Given the description of an element on the screen output the (x, y) to click on. 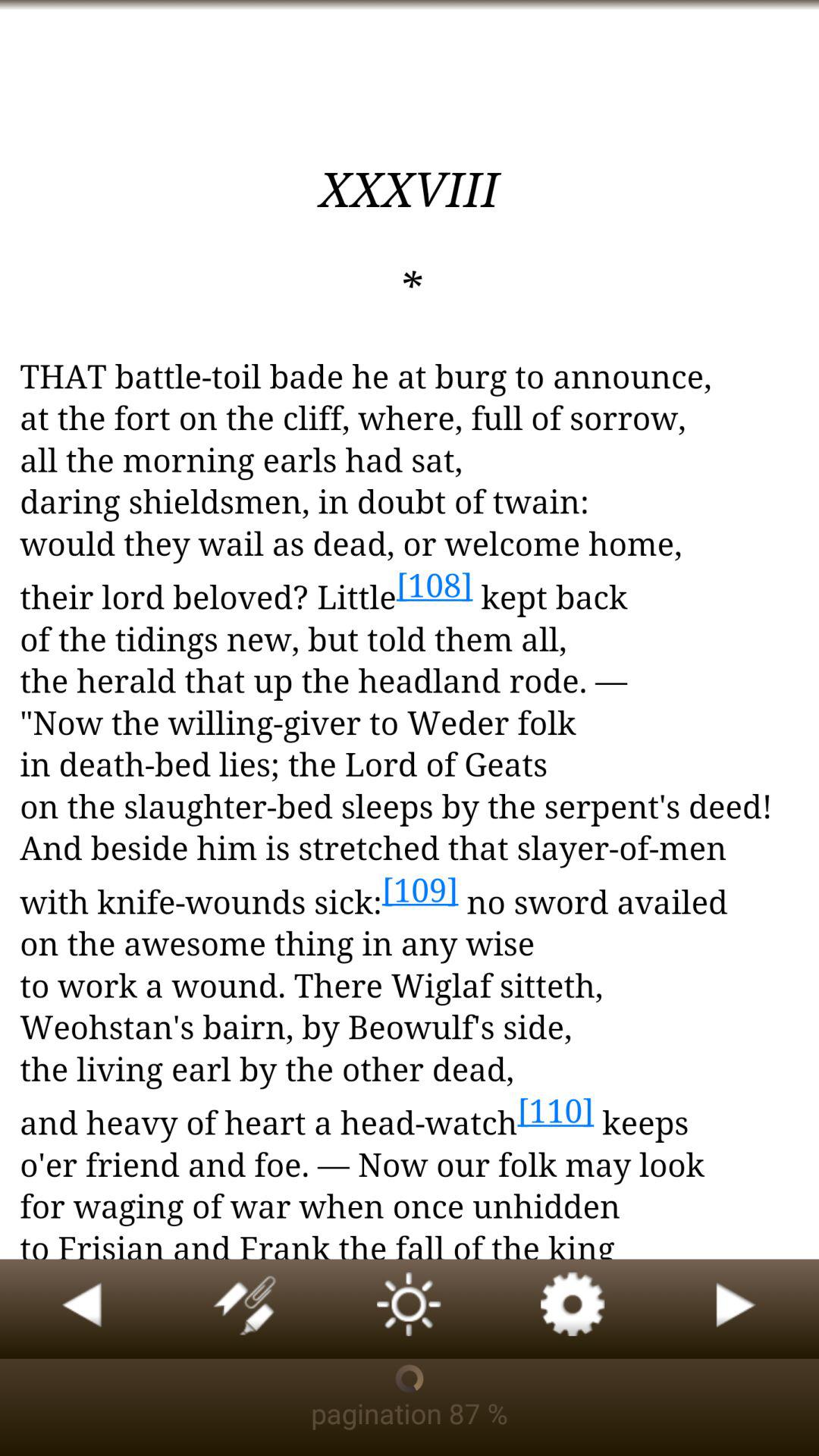
play book reader (737, 1308)
